Given the description of an element on the screen output the (x, y) to click on. 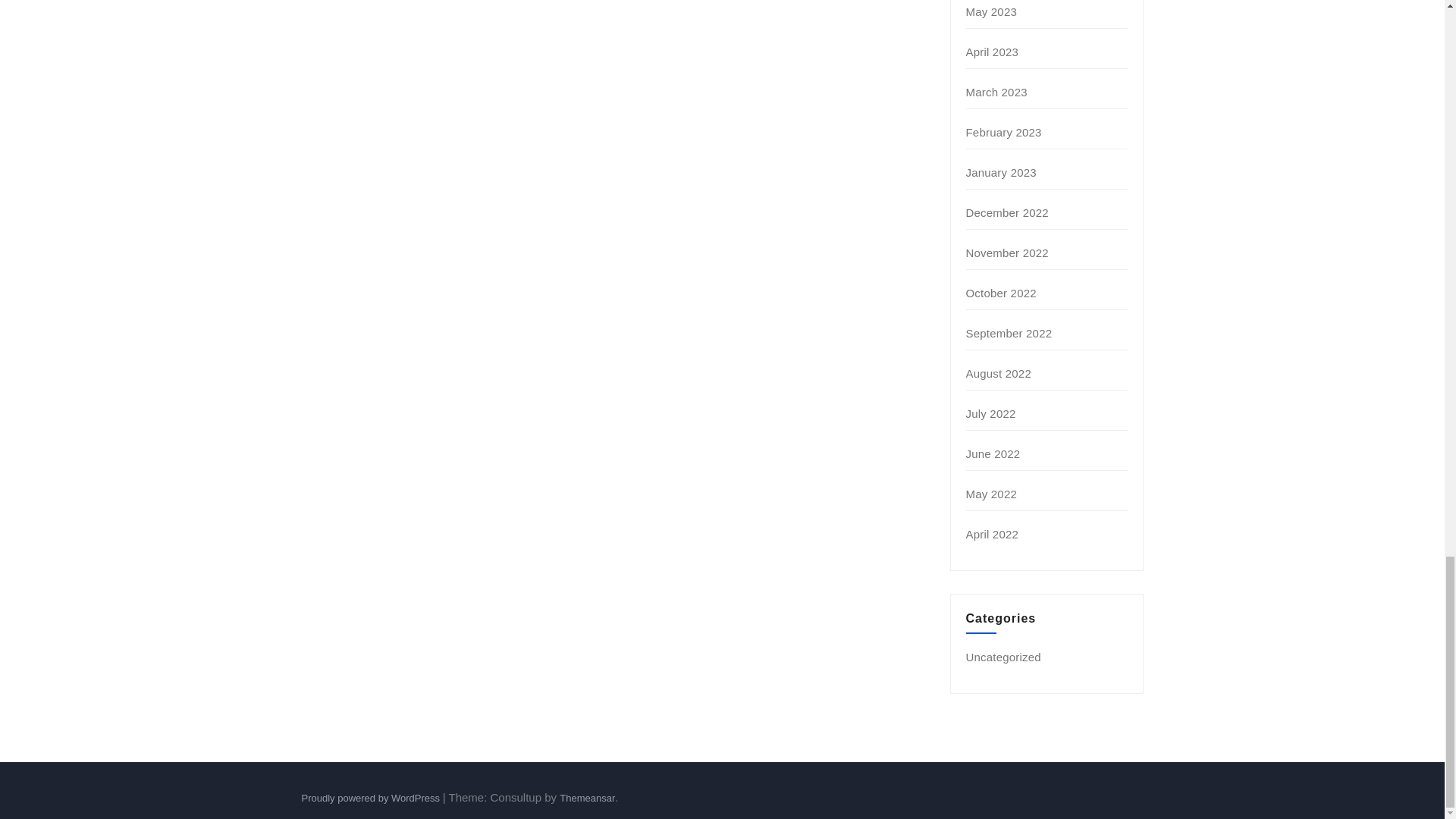
December 2022 (1007, 212)
October 2022 (1001, 292)
April 2023 (992, 51)
February 2023 (1004, 132)
March 2023 (996, 91)
November 2022 (1007, 252)
May 2023 (991, 11)
August 2022 (998, 373)
September 2022 (1009, 332)
January 2023 (1001, 172)
